Given the description of an element on the screen output the (x, y) to click on. 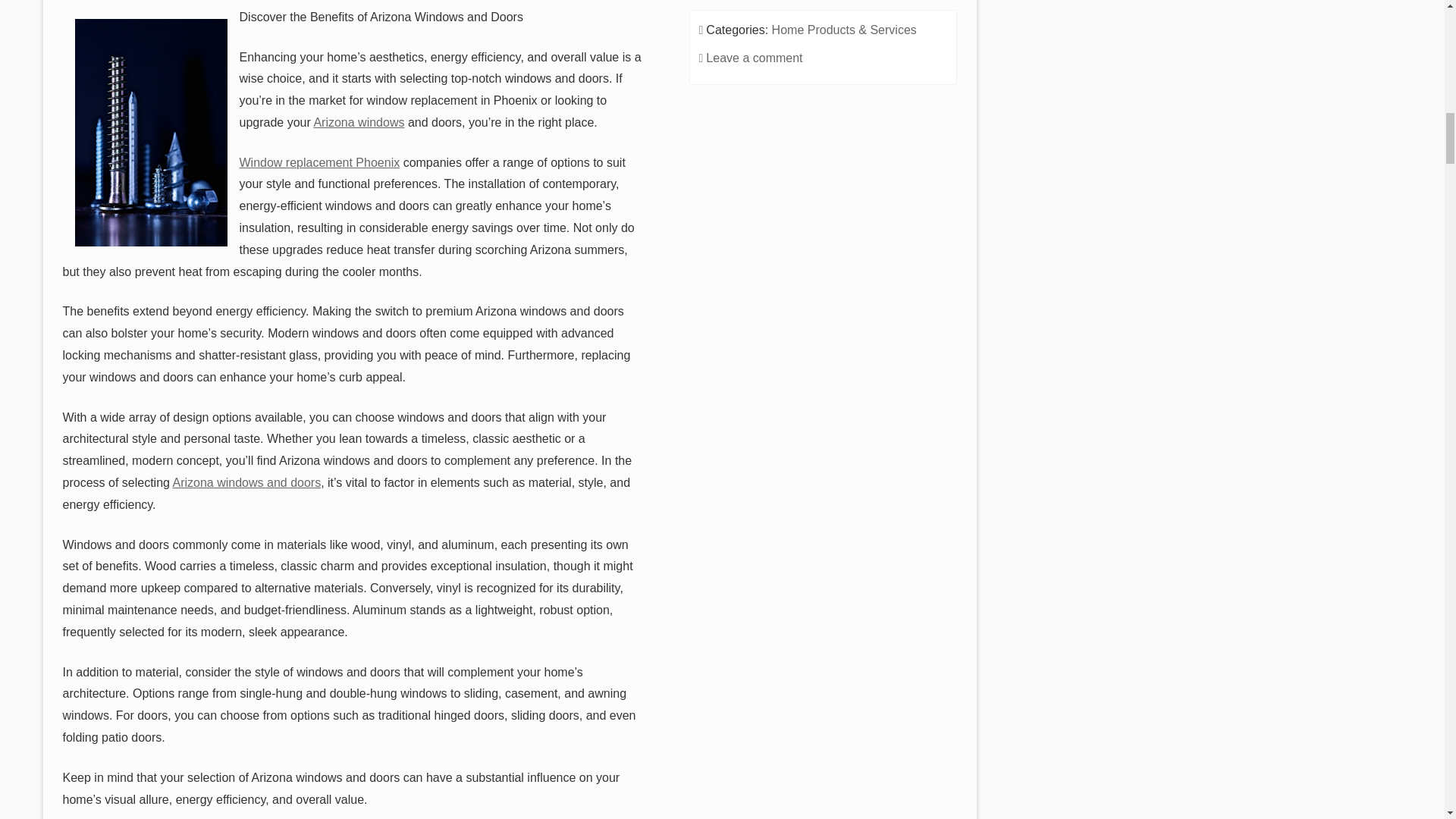
Window replacement Phoenix (320, 162)
Arizona windows (358, 122)
Arizona windows and doors (245, 481)
Leave a comment (754, 57)
